Given the description of an element on the screen output the (x, y) to click on. 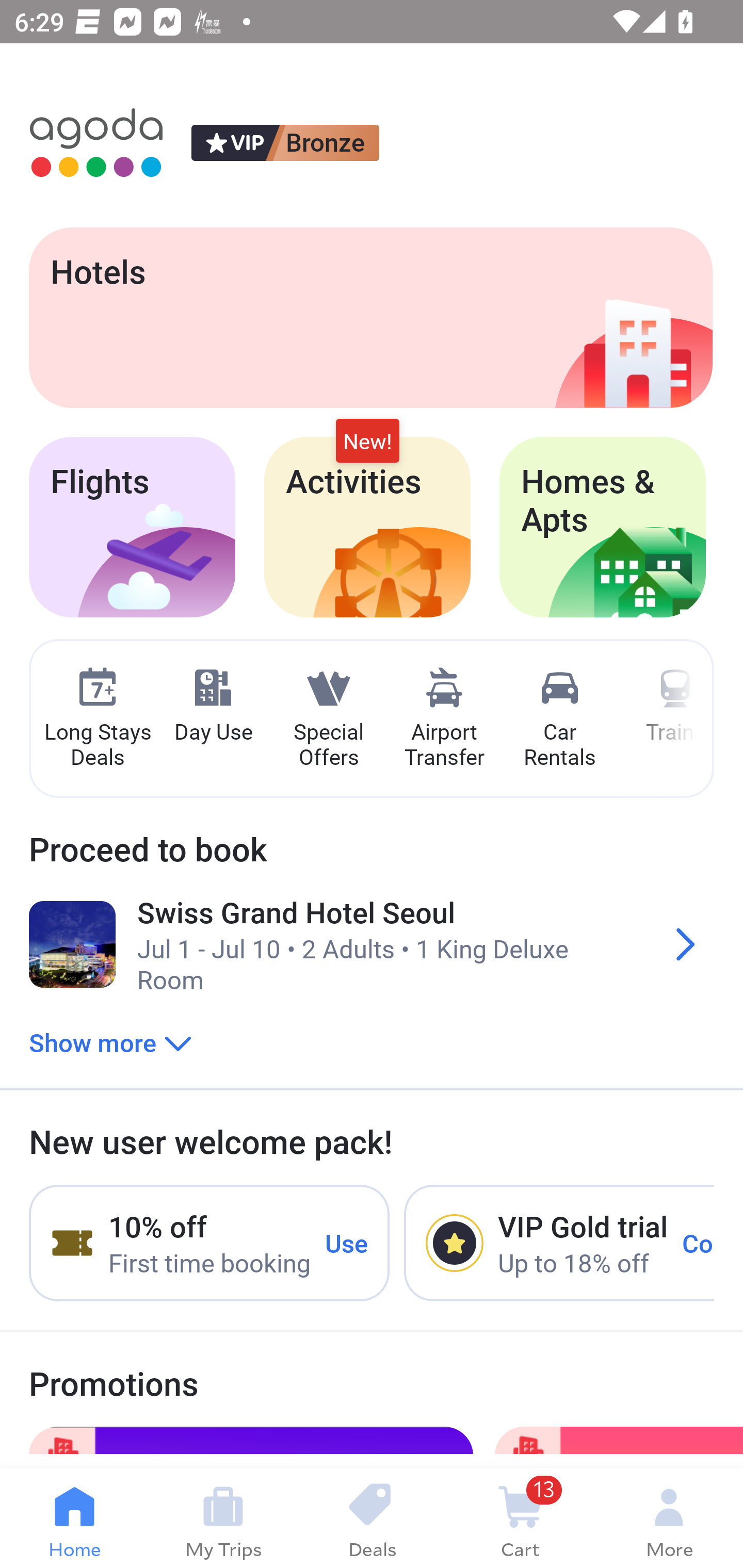
Hotels (370, 317)
New! (367, 441)
Flights (131, 527)
Activities (367, 527)
Homes & Apts (602, 527)
Day Use (213, 706)
Long Stays Deals (97, 718)
Special Offers (328, 718)
Airport Transfer (444, 718)
Car Rentals (559, 718)
Show more (110, 1041)
Use (346, 1242)
Home (74, 1518)
My Trips (222, 1518)
Deals (371, 1518)
13 Cart (519, 1518)
More (668, 1518)
